Given the description of an element on the screen output the (x, y) to click on. 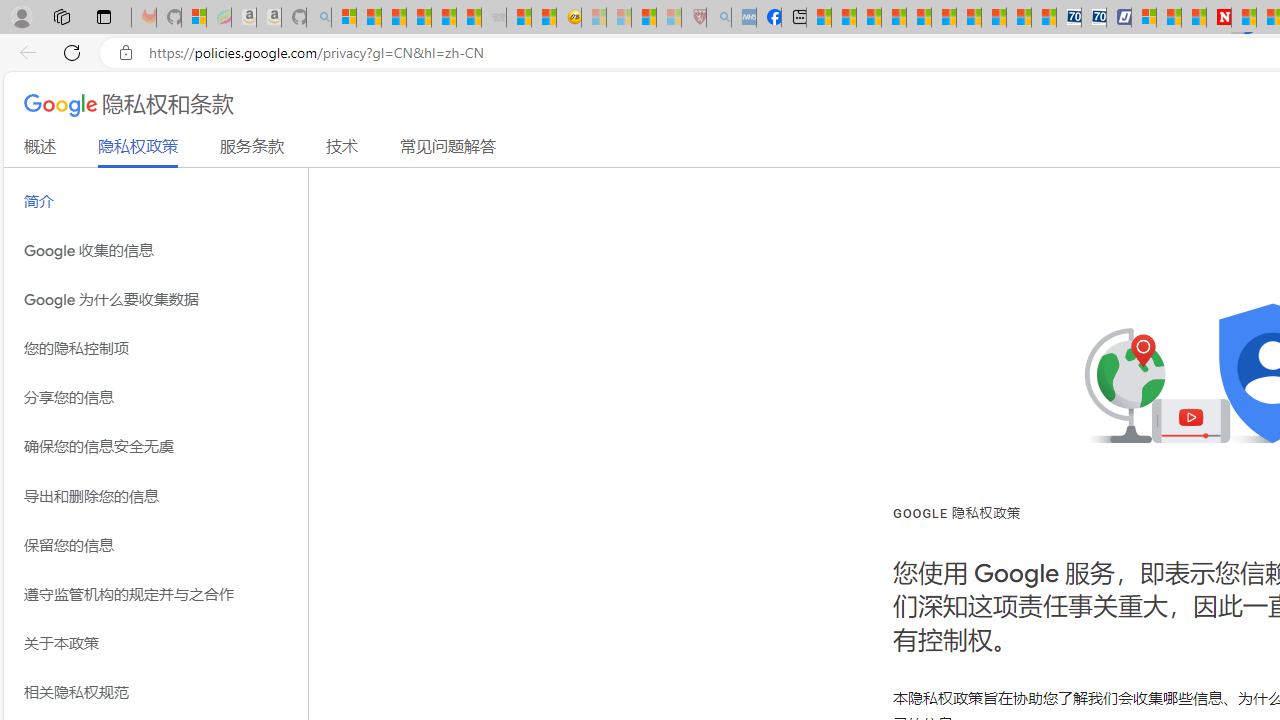
12 Popular Science Lies that Must be Corrected - Sleeping (668, 17)
